Given the description of an element on the screen output the (x, y) to click on. 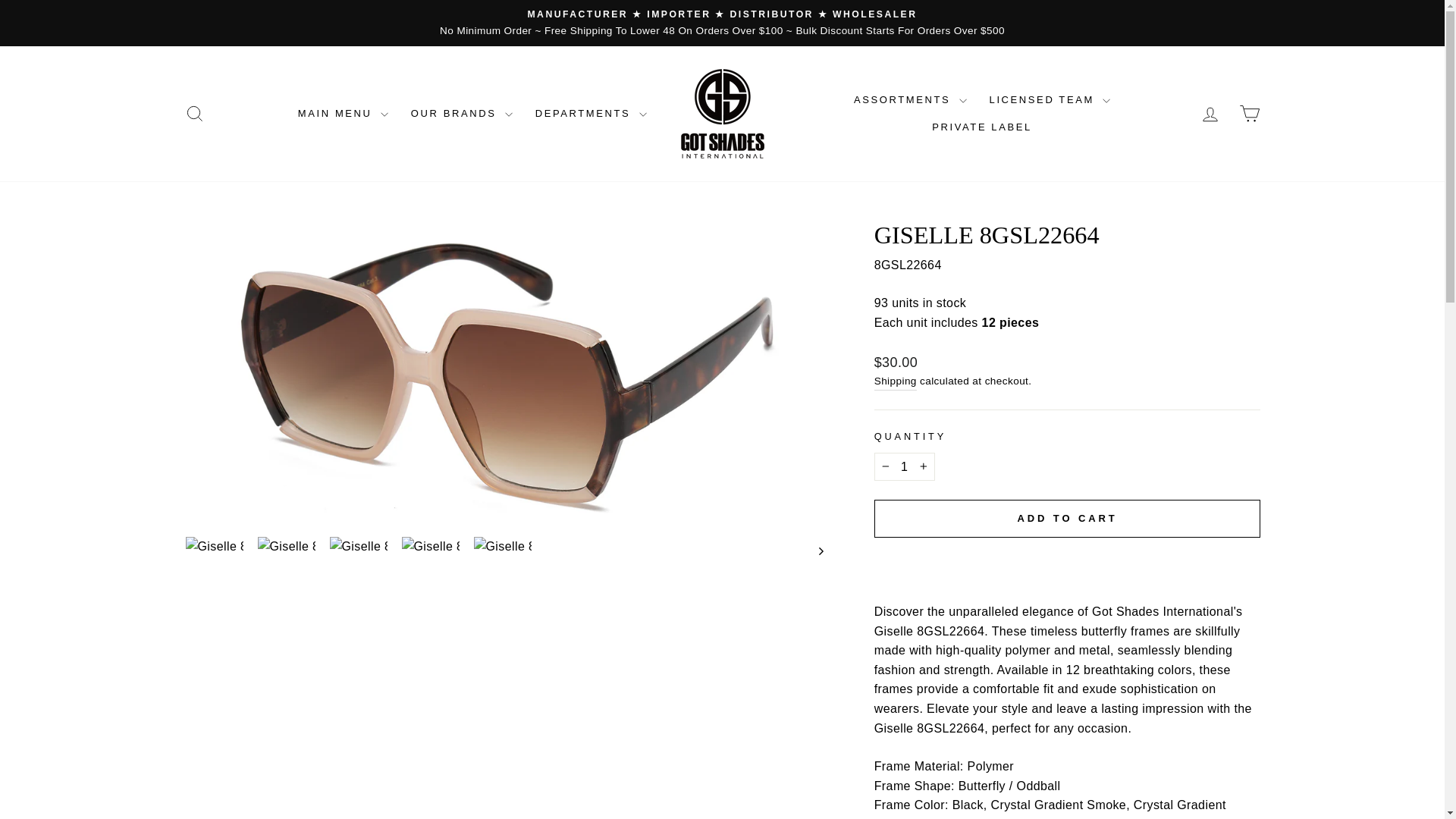
ICON-SEARCH (194, 113)
1 (904, 466)
ACCOUNT (1210, 114)
